Given the description of an element on the screen output the (x, y) to click on. 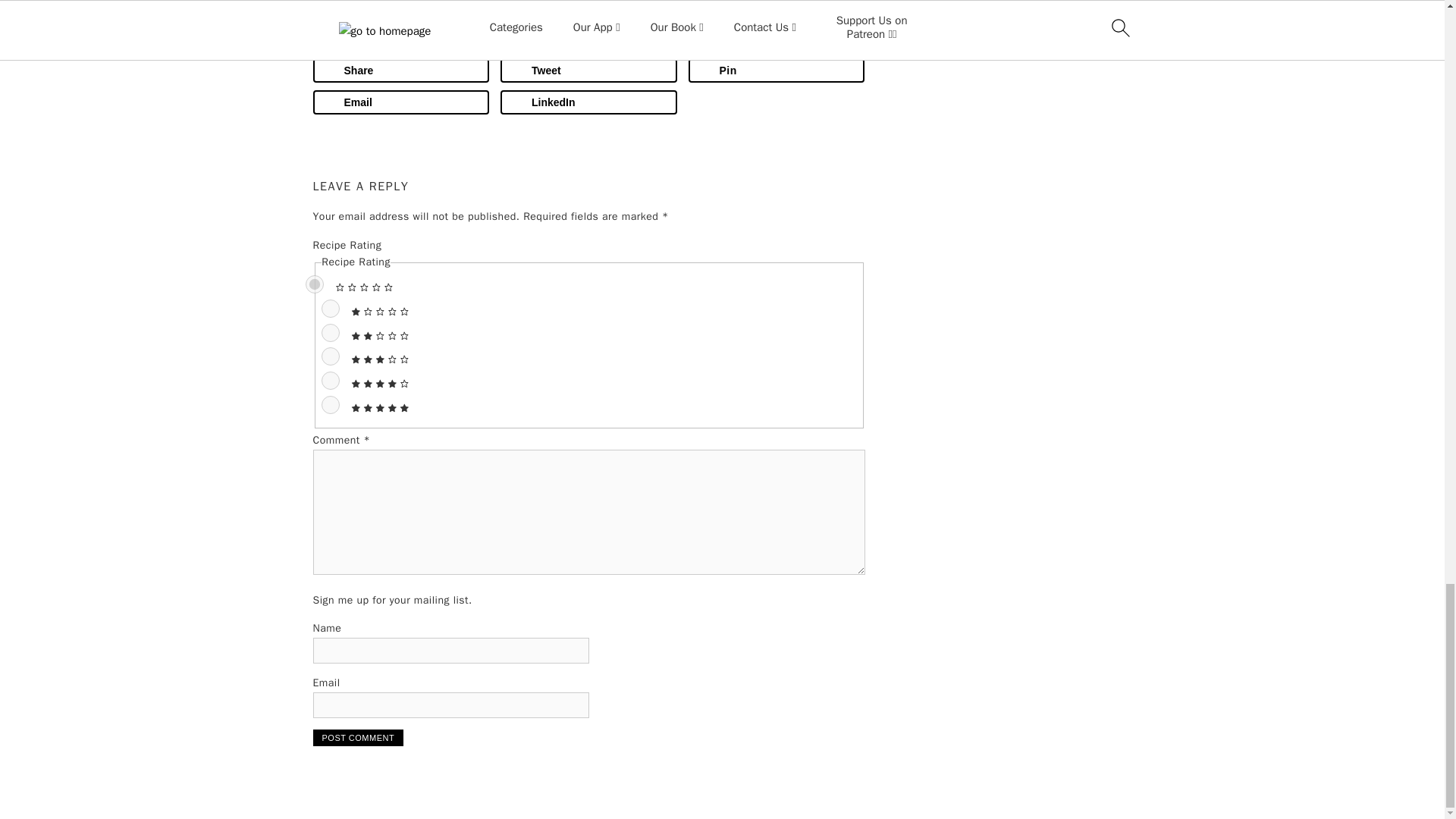
5 (330, 404)
2 (330, 332)
Post Comment (358, 737)
Send over email (401, 102)
Share on Facebook (401, 70)
0 (314, 284)
1 (330, 308)
3 (330, 356)
4 (330, 380)
Save to Pinterest (776, 70)
